Given the description of an element on the screen output the (x, y) to click on. 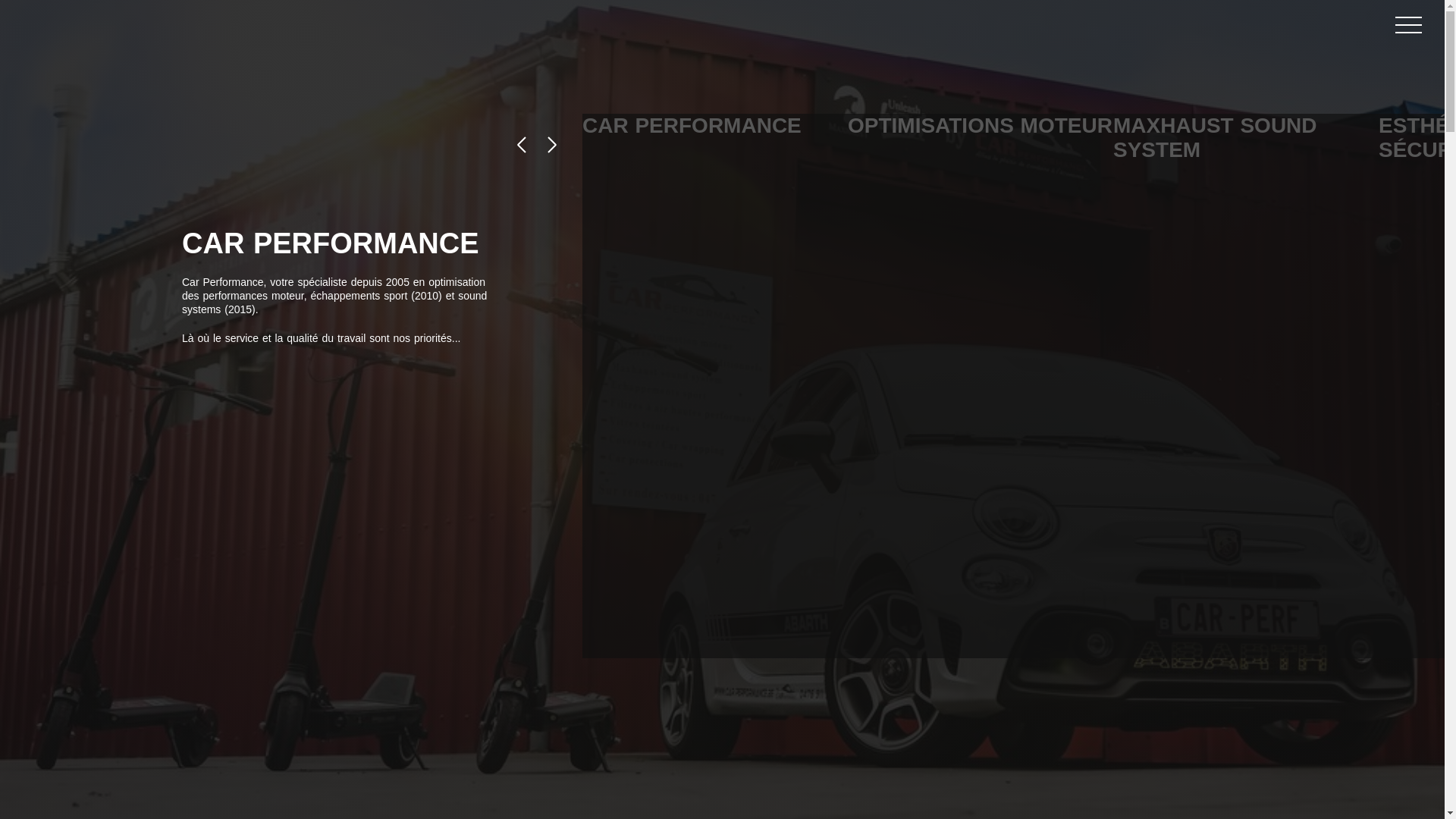
Accueil Element type: hover (80, 24)
